Given the description of an element on the screen output the (x, y) to click on. 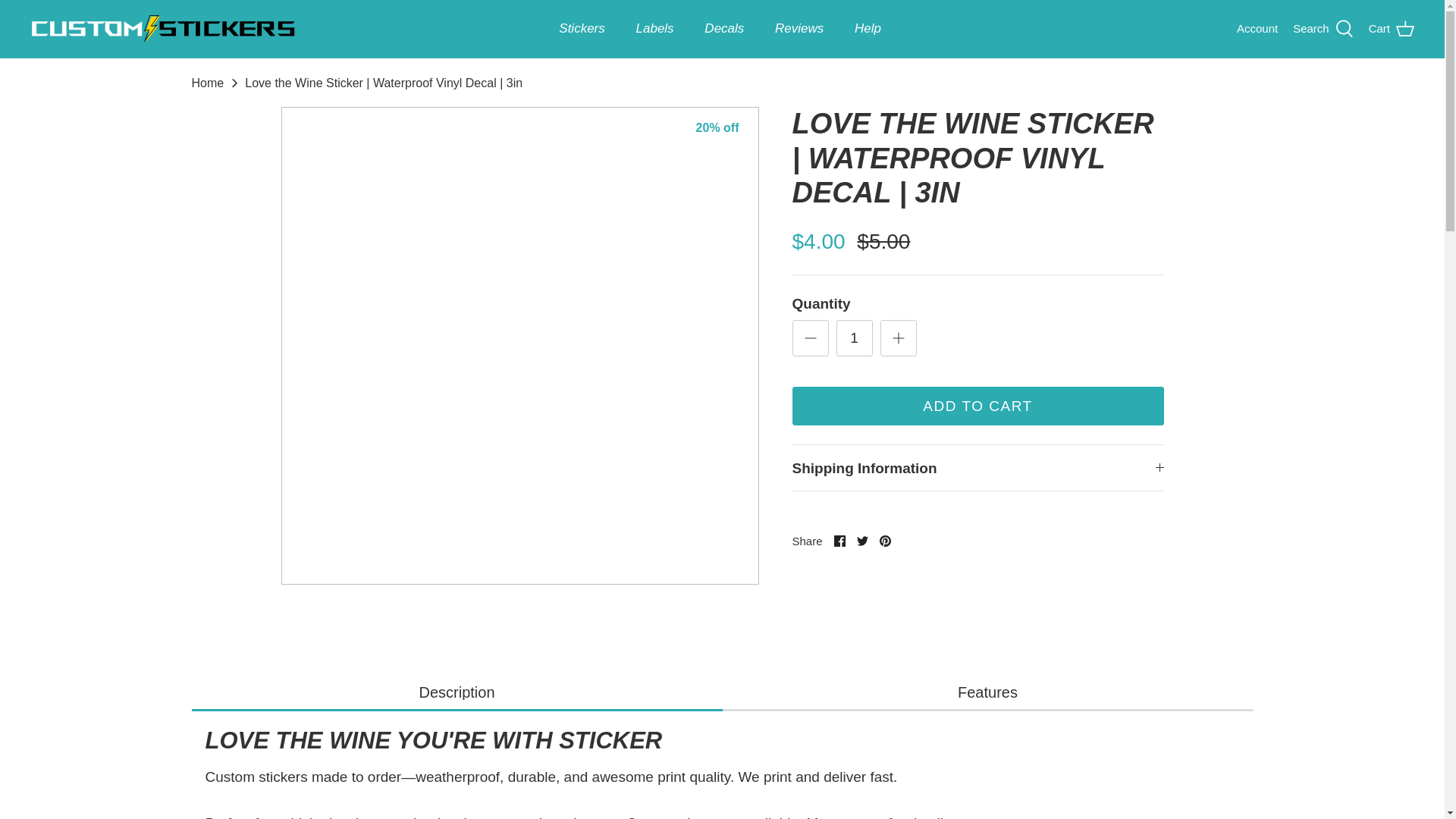
1 (853, 338)
Cart (1390, 28)
Reviews (799, 28)
Account (1257, 28)
Stickers (580, 28)
Labels (655, 28)
Decals (723, 28)
Pinterest (885, 541)
CustomStickers.com (162, 28)
Search (1323, 28)
Twitter (862, 541)
Plus (897, 338)
Facebook (839, 541)
Help (868, 28)
Minus (809, 338)
